Given the description of an element on the screen output the (x, y) to click on. 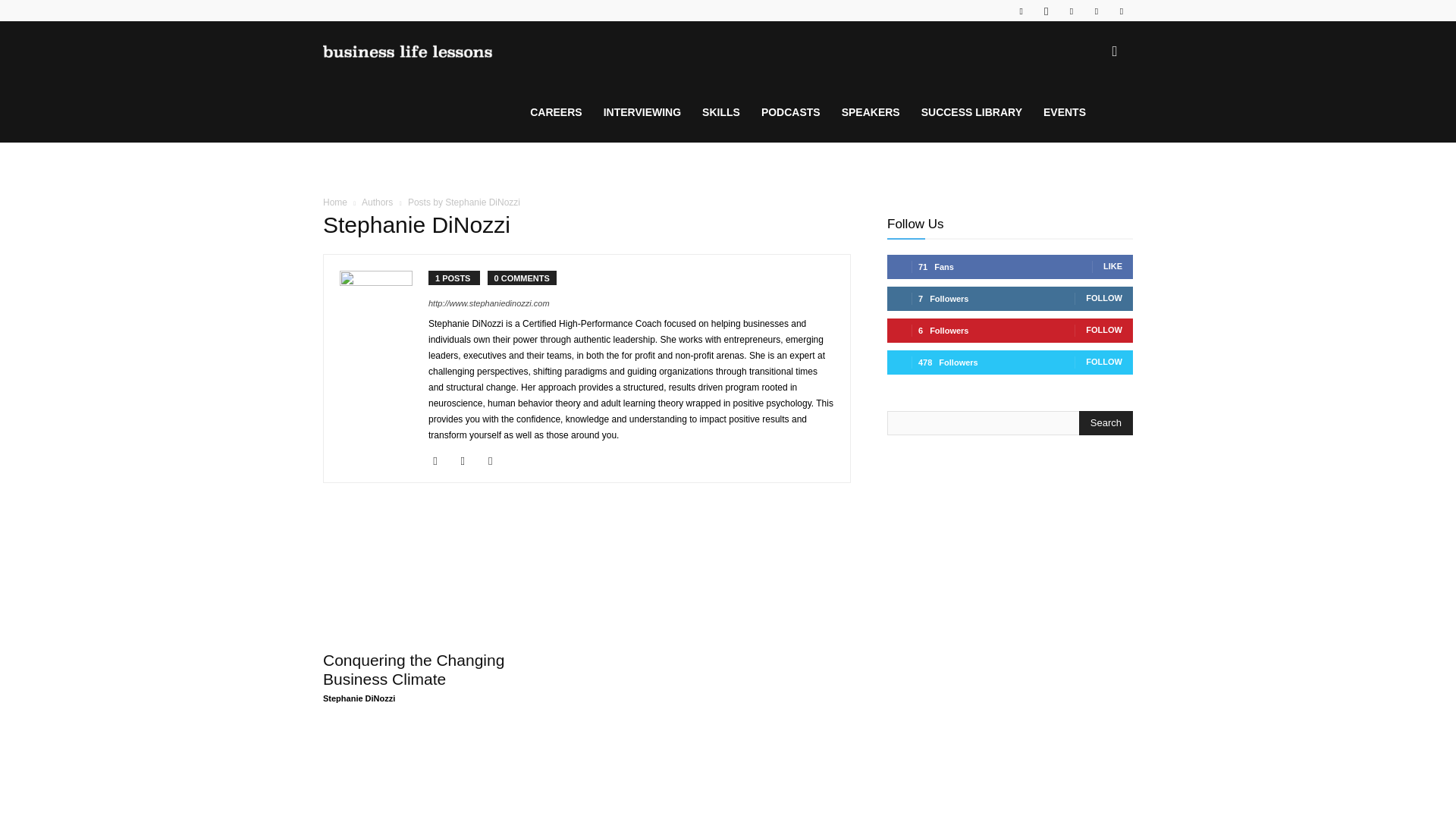
Pinterest (1096, 10)
Facebook (440, 461)
PODCASTS (791, 111)
Twitter (1120, 10)
Linkedin (1071, 10)
EVENTS (1064, 111)
Linkedin (495, 461)
Home (335, 202)
SUCCESS LIBRARY (971, 111)
business life lessons (408, 51)
